Given the description of an element on the screen output the (x, y) to click on. 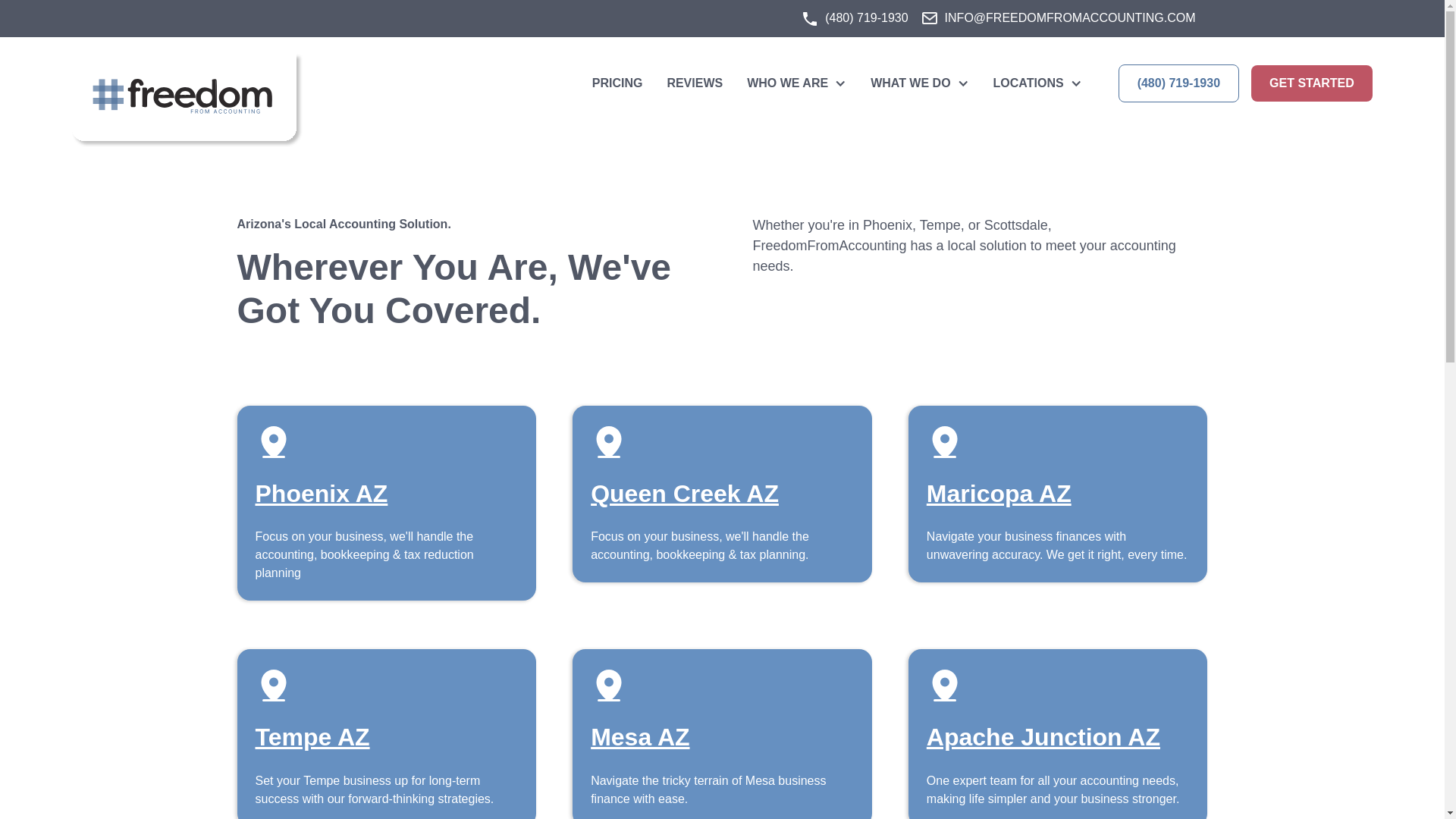
REVIEWS (694, 82)
GET STARTED (1311, 83)
PRICING (617, 82)
